Given the description of an element on the screen output the (x, y) to click on. 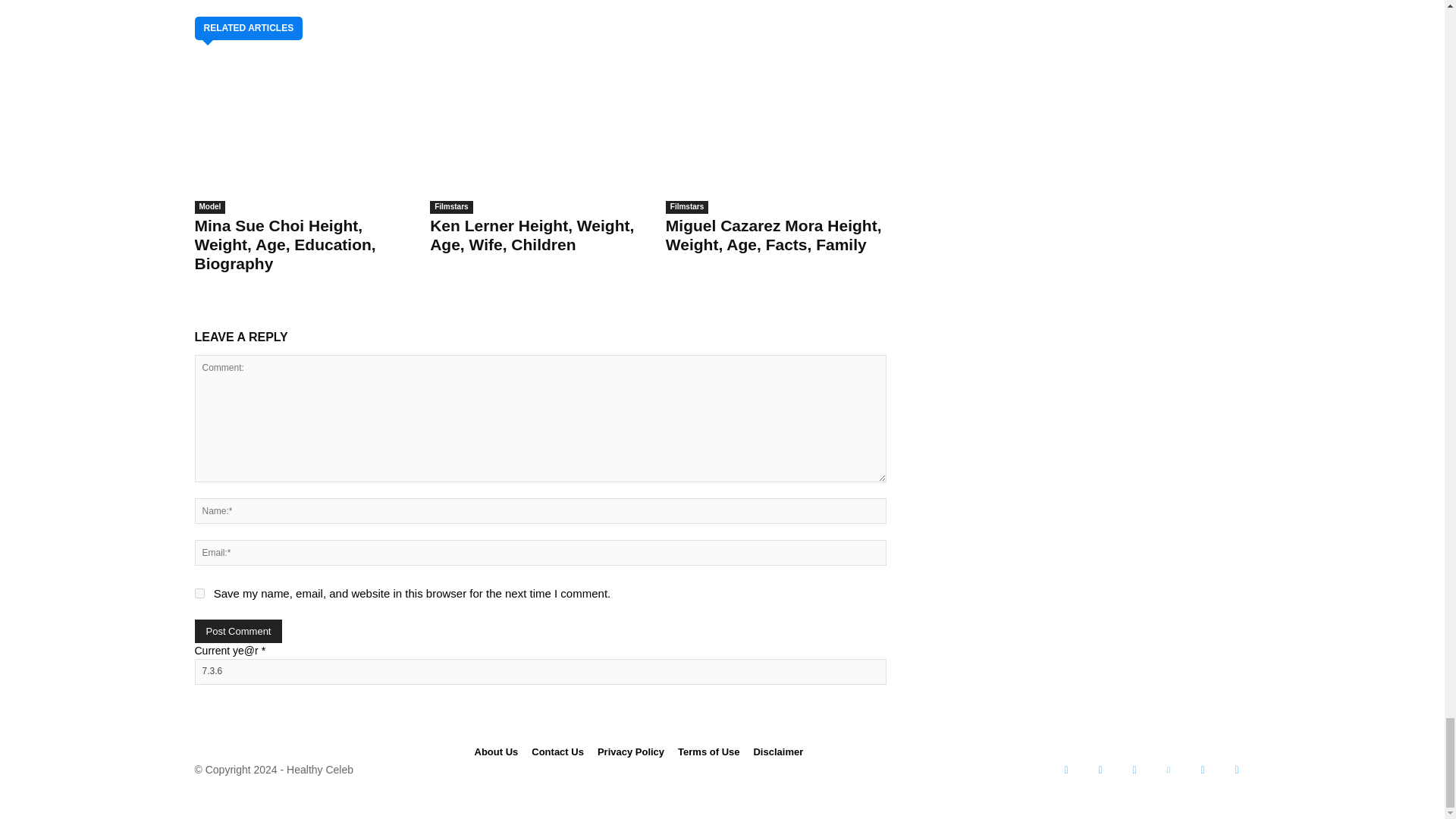
7.3.6 (539, 671)
yes (198, 593)
Post Comment (237, 630)
